Given the description of an element on the screen output the (x, y) to click on. 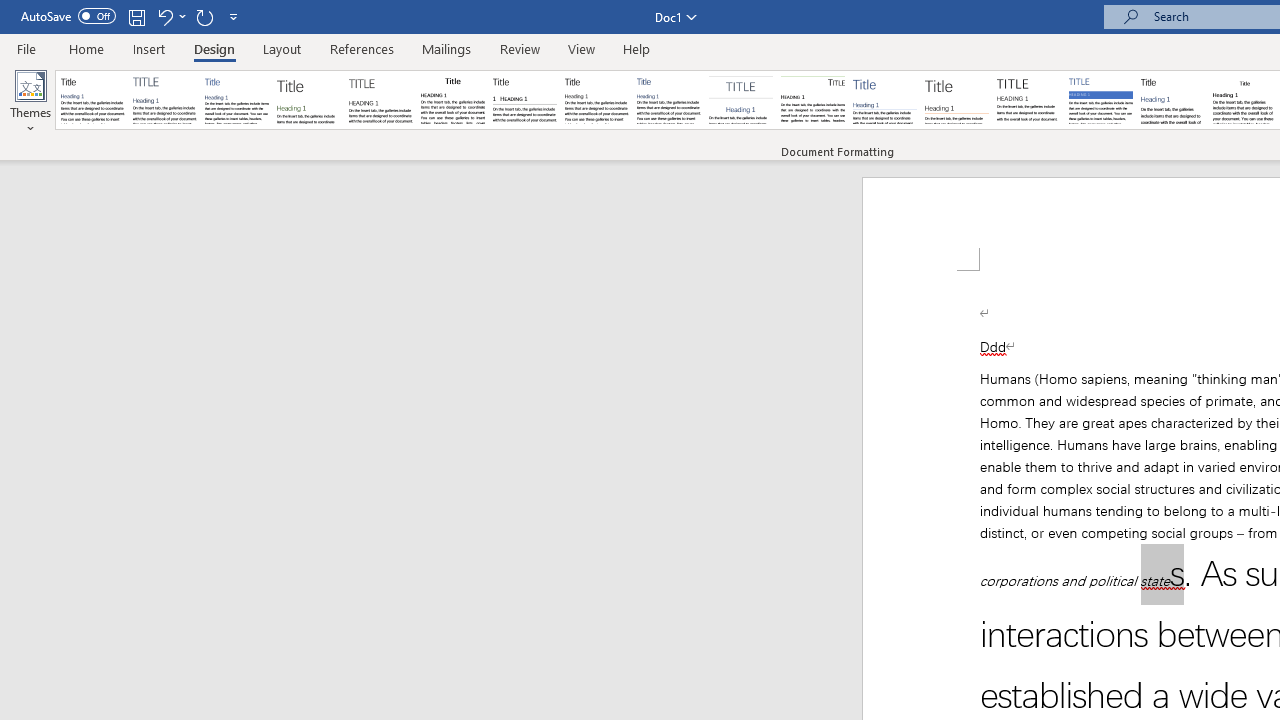
Basic (Stylish) (308, 100)
Undo Apply Quick Style Set (164, 15)
Centered (740, 100)
Black & White (Numbered) (524, 100)
Document (93, 100)
Themes (30, 102)
Lines (Distinctive) (812, 100)
Casual (669, 100)
